Given the description of an element on the screen output the (x, y) to click on. 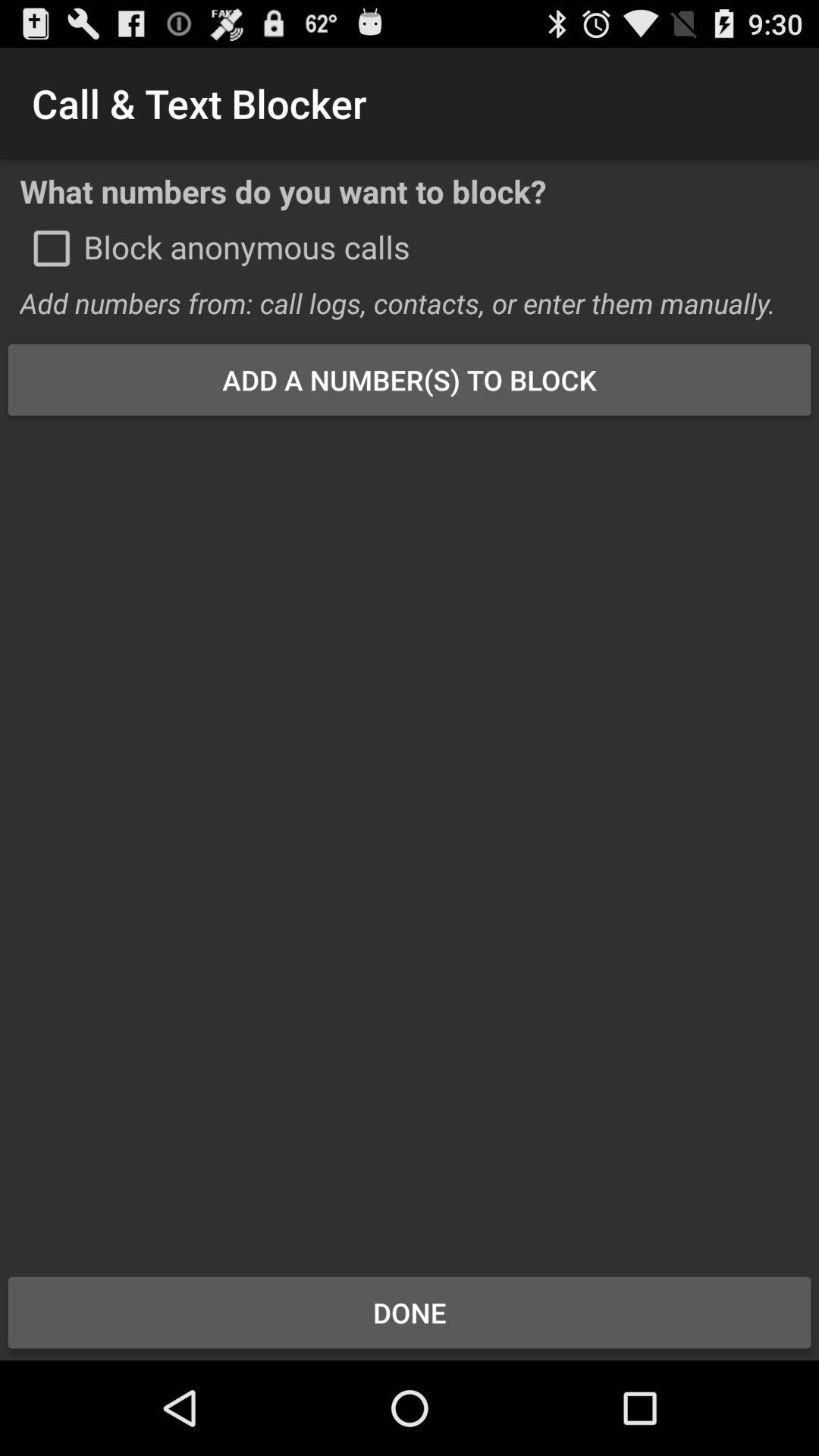
launch the done icon (409, 1312)
